Given the description of an element on the screen output the (x, y) to click on. 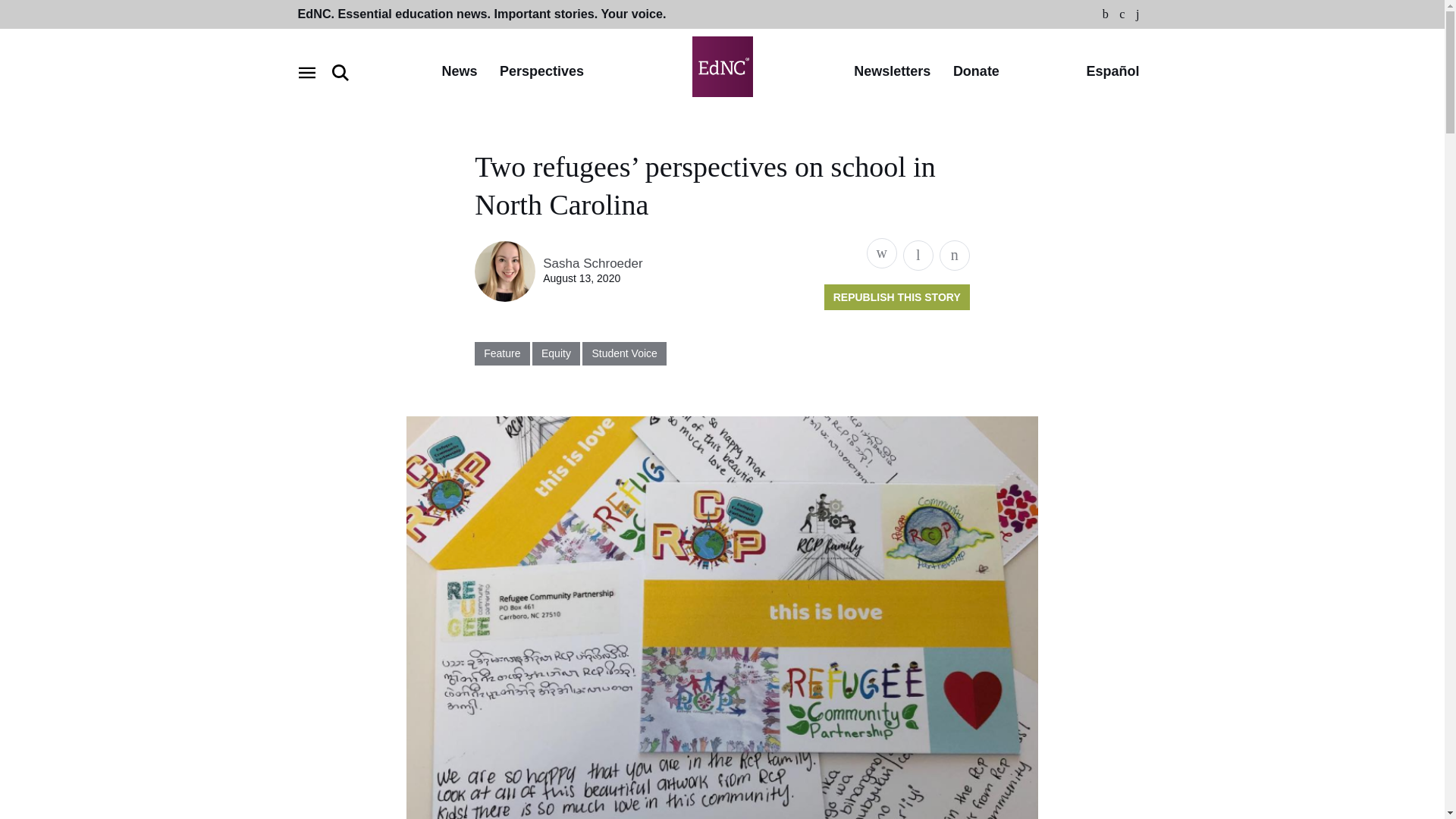
Newsletters (891, 71)
Open navigation (306, 72)
News (459, 71)
Perspectives (541, 71)
Sasha Schroeder (592, 263)
Share this page (881, 253)
Donate (975, 71)
